Given the description of an element on the screen output the (x, y) to click on. 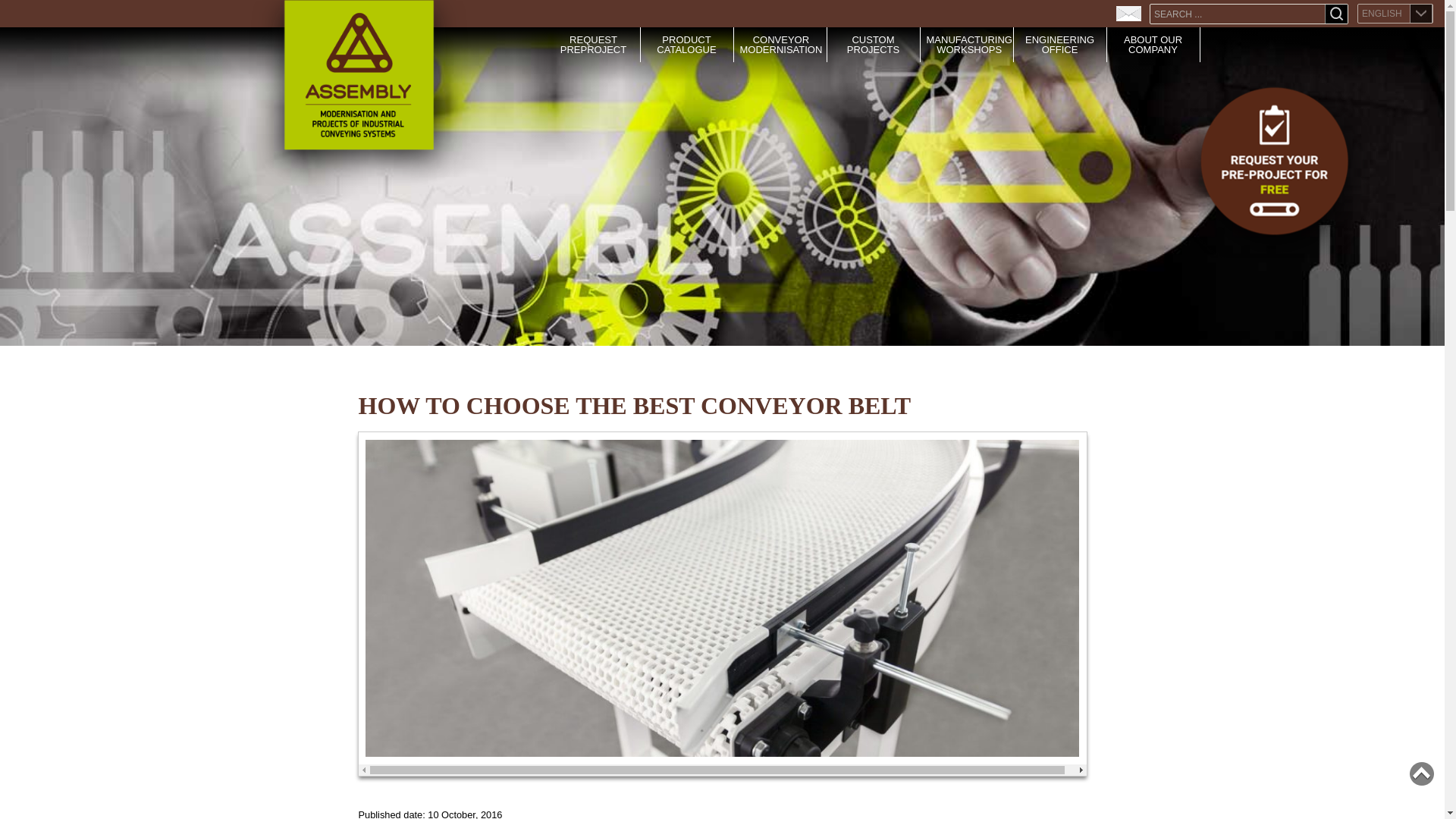
ABOUT OUR COMPANY (1153, 44)
REQUEST PREPROJECT (593, 44)
Published date: 10 October, 2016 (722, 805)
Search (1336, 15)
ENGINEERING OFFICE (1059, 44)
MANUFACTURING WORKSHOPS (968, 44)
PRODUCT CATALOGUE (686, 44)
Request your pre-project for free (1273, 170)
CUSTOM PROJECTS (872, 44)
CONVEYOR MODERNISATION (780, 44)
Top (1421, 773)
Search (1336, 15)
